Given the description of an element on the screen output the (x, y) to click on. 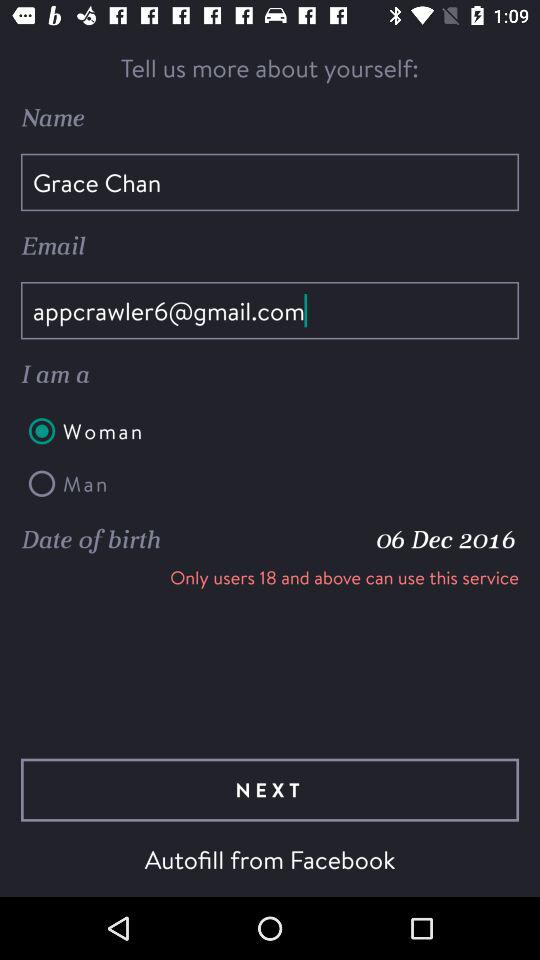
click the icon above the email item (269, 182)
